Given the description of an element on the screen output the (x, y) to click on. 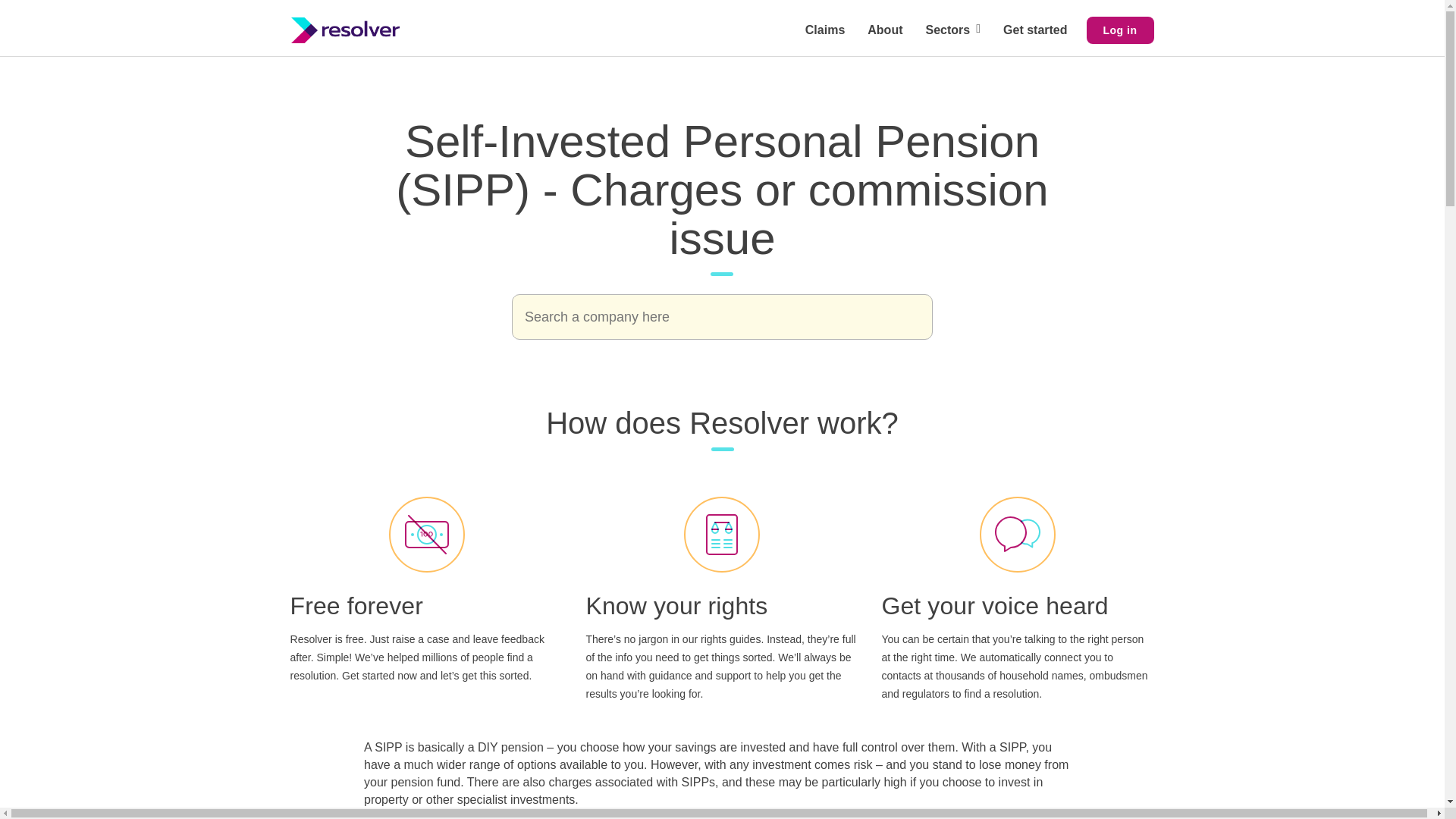
Sectors (952, 30)
About (885, 30)
Claims (824, 30)
